Given the description of an element on the screen output the (x, y) to click on. 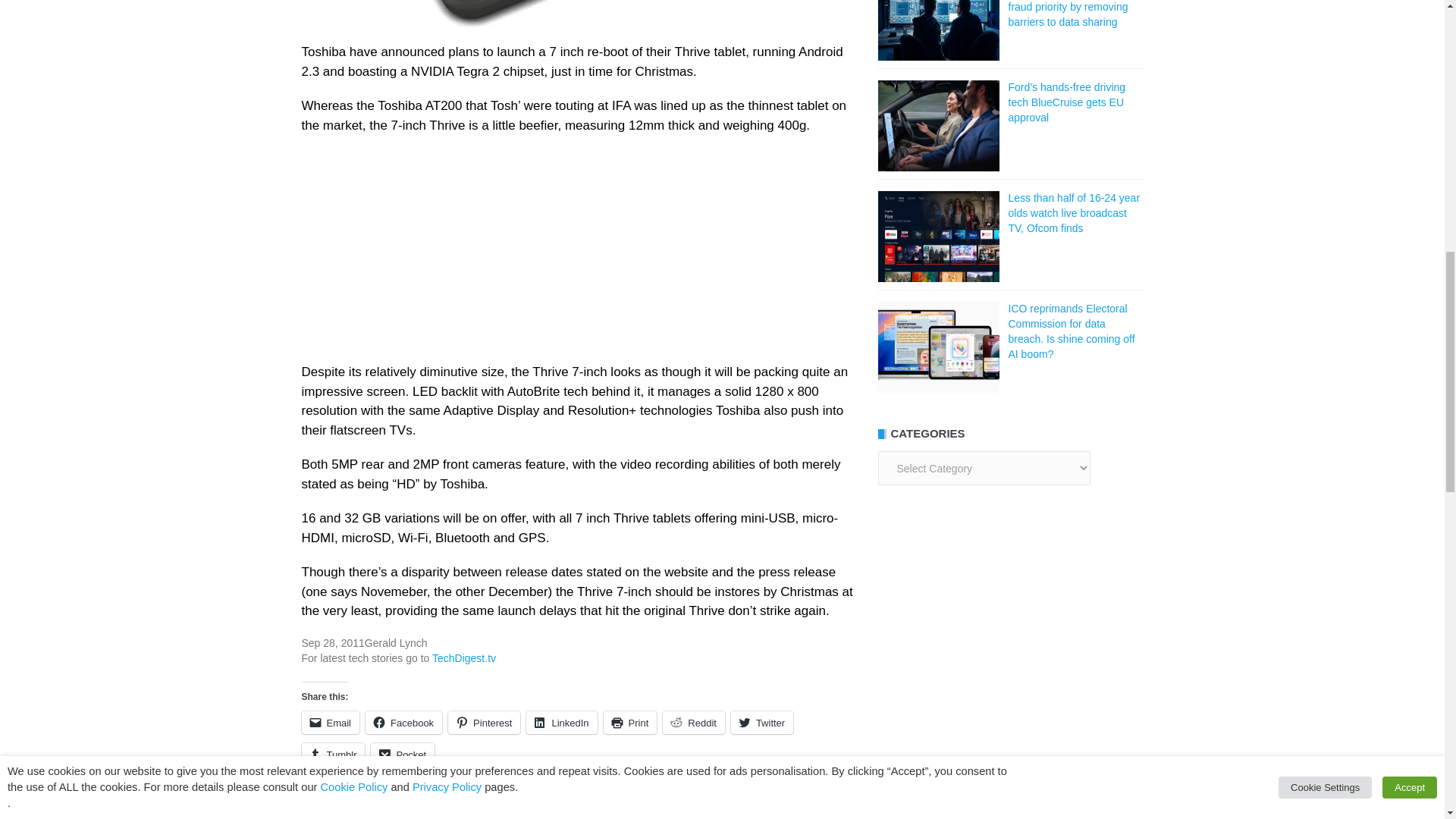
Type your email in here (1003, 804)
Click to share on LinkedIn (560, 722)
Click to share on Reddit (693, 722)
Click to share on Facebook (403, 722)
Click to share on Pinterest (483, 722)
Click to share on Tumblr (333, 753)
Click to email a link to a friend (330, 722)
Click to print (631, 722)
Type your email in here (1003, 804)
Click to share on Twitter (761, 722)
Advertisement (578, 255)
